Given the description of an element on the screen output the (x, y) to click on. 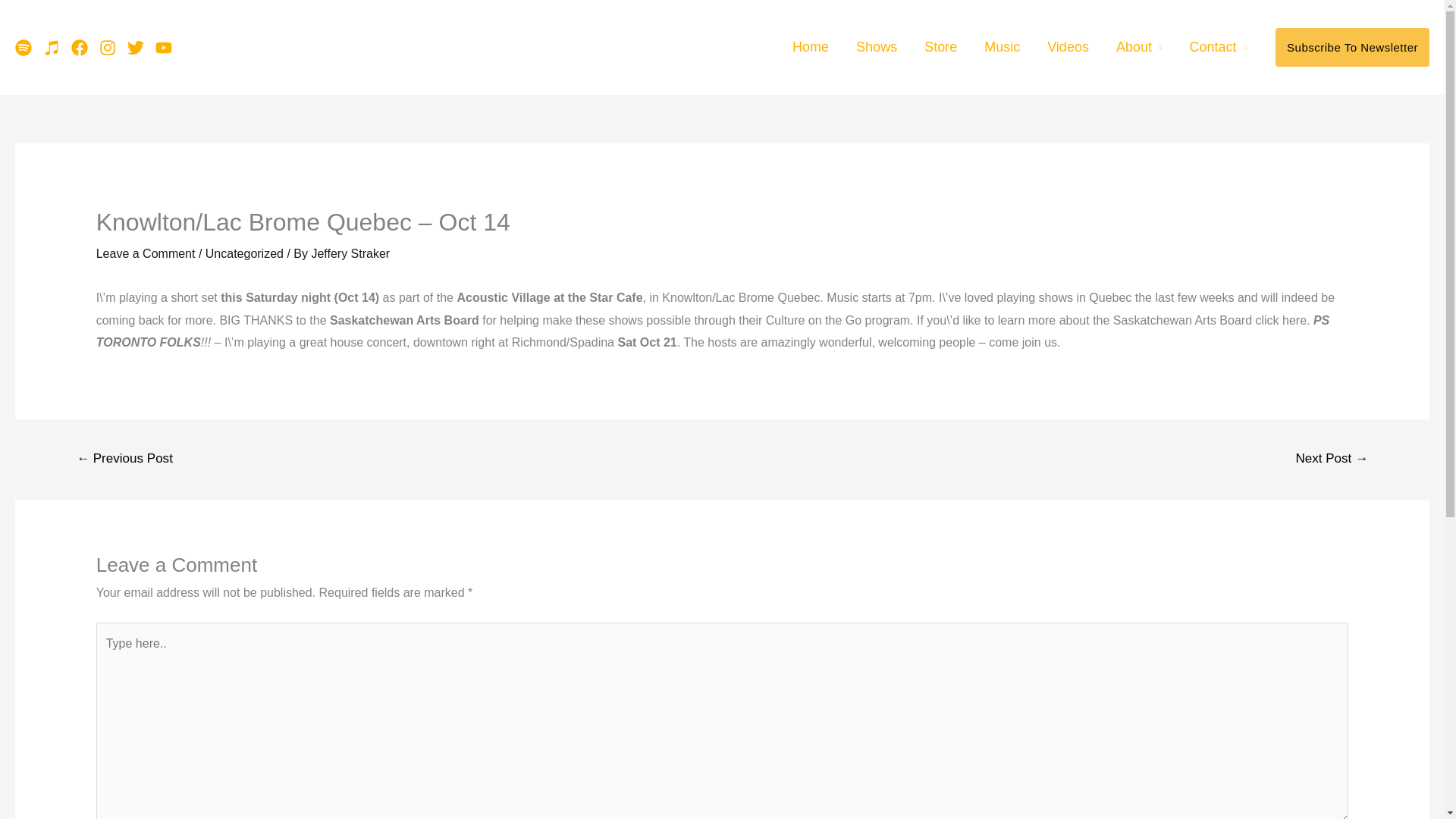
Subscribe To Newsletter (1352, 47)
View all posts by Jeffery Straker (350, 253)
Contact (1217, 47)
